Given the description of an element on the screen output the (x, y) to click on. 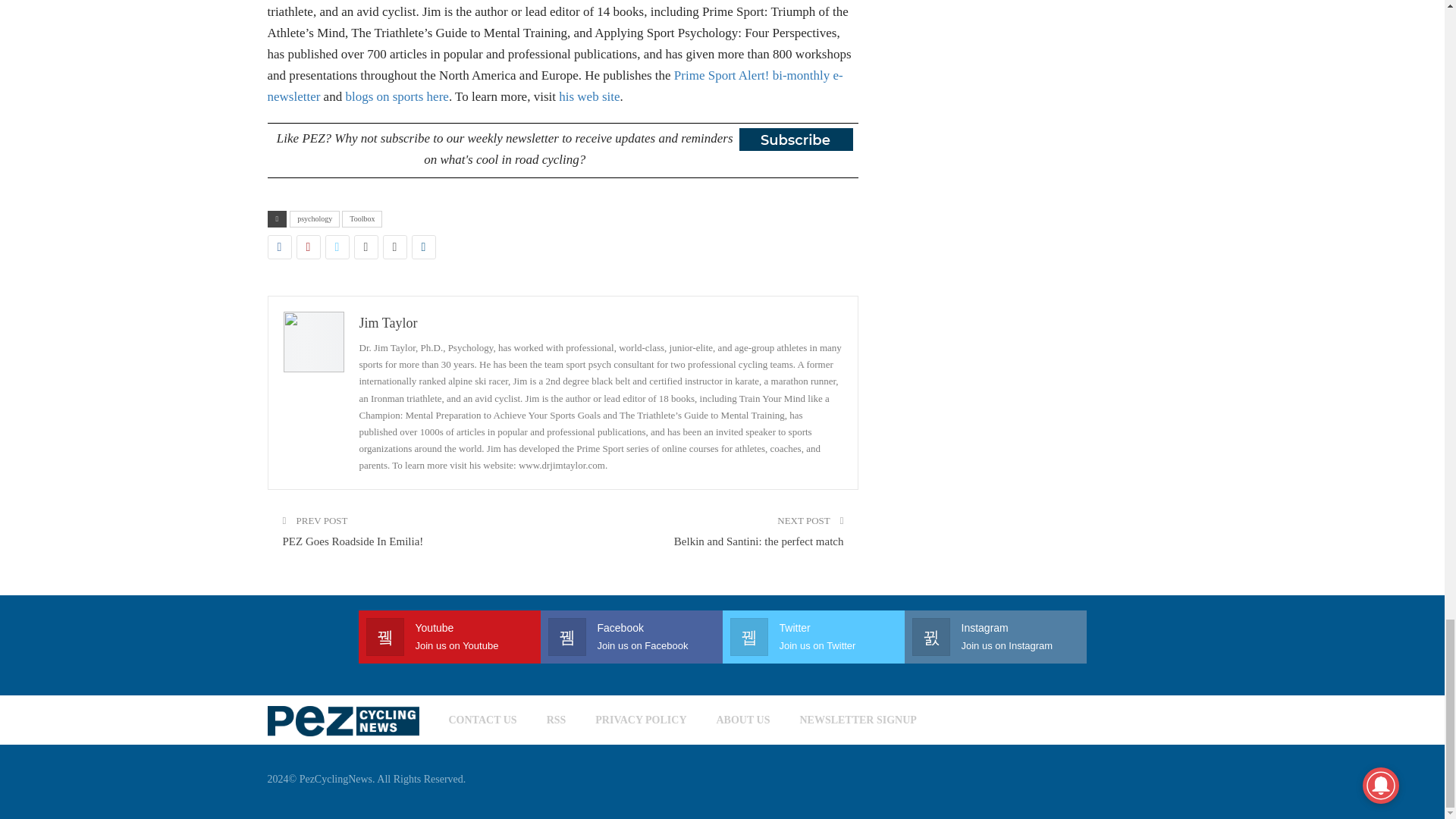
Prime Sport Alert! bi-monthly e-newsletter (554, 85)
Dr. Jim's sports blogs (396, 96)
psychology (314, 218)
Toolbox (361, 218)
blogs on sports here (396, 96)
his web site (589, 96)
Jim's website (589, 96)
Prime sport alerts (554, 85)
